Given the description of an element on the screen output the (x, y) to click on. 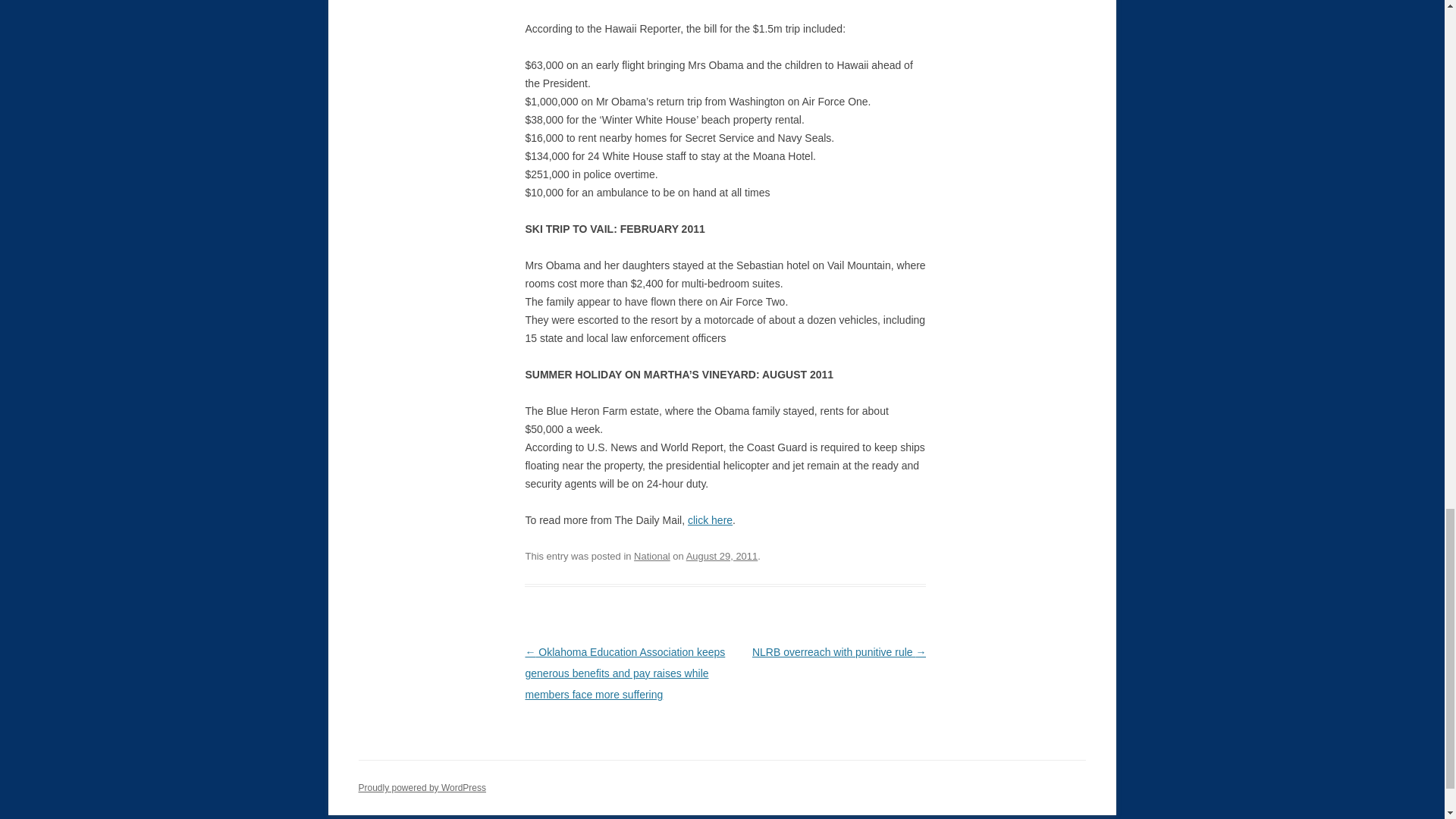
National (651, 555)
August 29, 2011 (721, 555)
Semantic Personal Publishing Platform (422, 787)
Proudly powered by WordPress (422, 787)
11:10 am (721, 555)
click here (709, 520)
opens new window (709, 520)
